Given the description of an element on the screen output the (x, y) to click on. 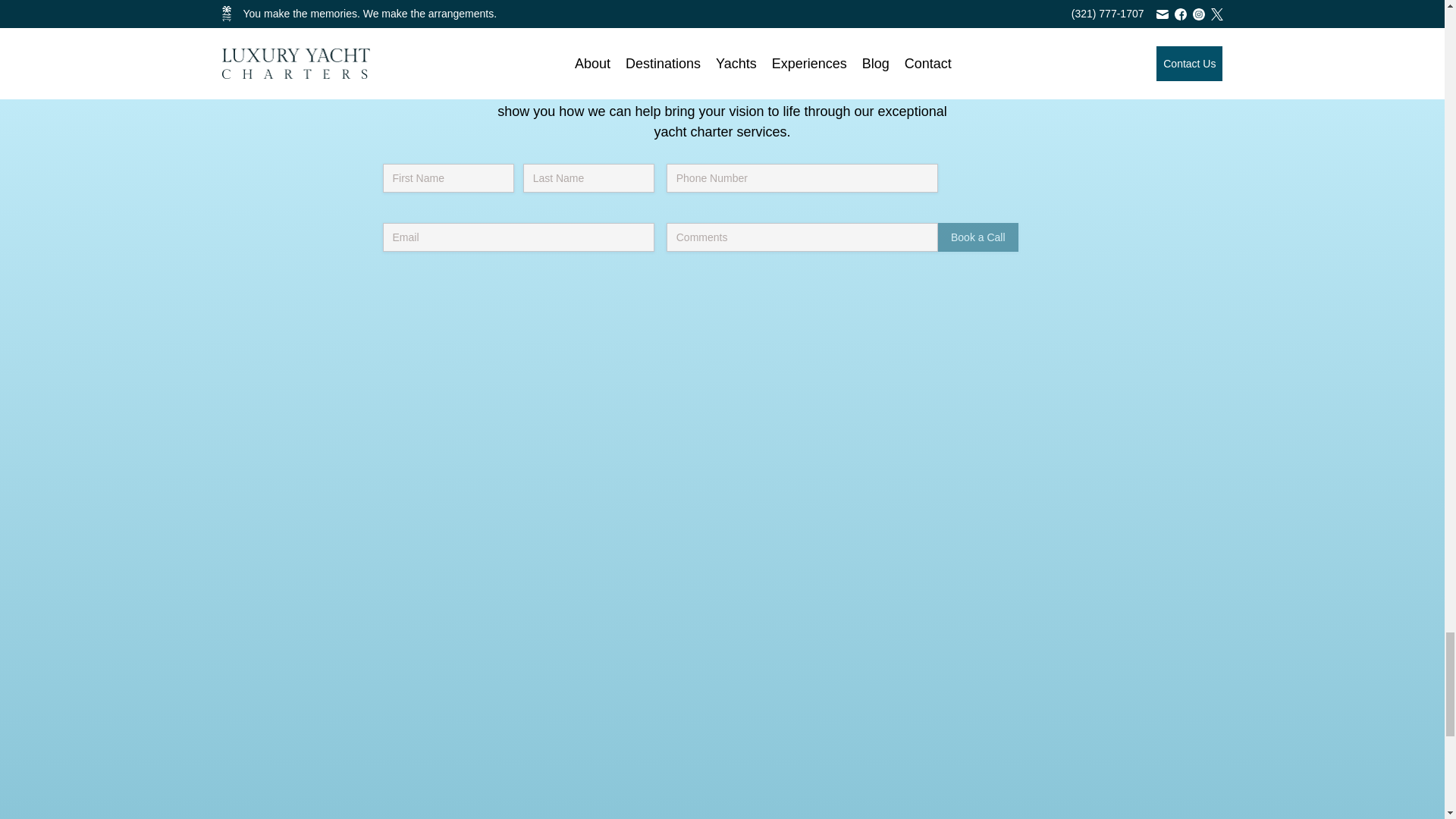
Book a Call (977, 236)
